Given the description of an element on the screen output the (x, y) to click on. 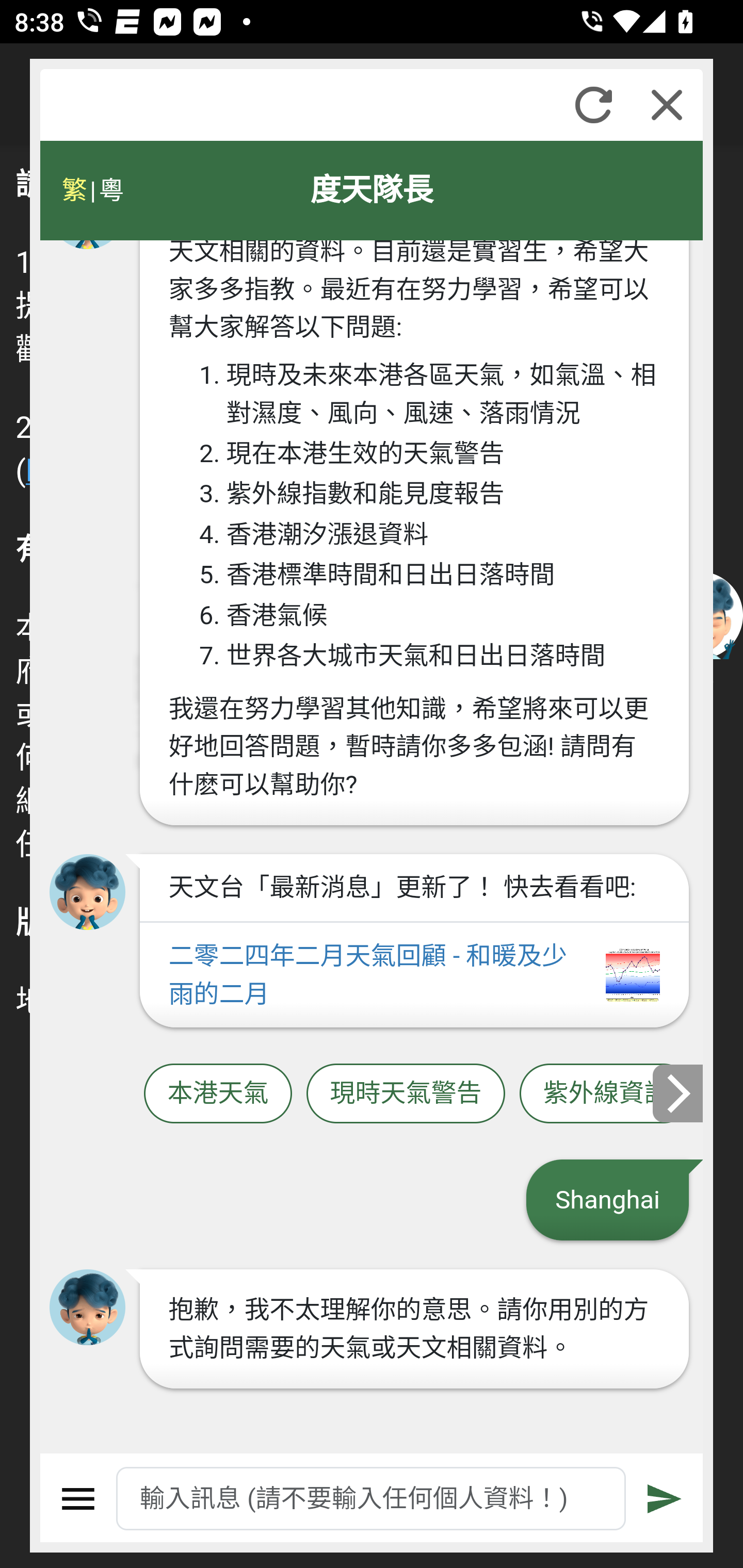
重新整理 (593, 104)
關閉 (666, 104)
繁 (73, 190)
粵 (110, 190)
二零二四年二月天氣回顧 - 和暖及少雨的二月 (413, 974)
本港天氣 (217, 1093)
現時天氣警告 (405, 1093)
紫外線資訊 (605, 1093)
下一張 (678, 1092)
選單 (78, 1498)
遞交 (665, 1498)
